Given the description of an element on the screen output the (x, y) to click on. 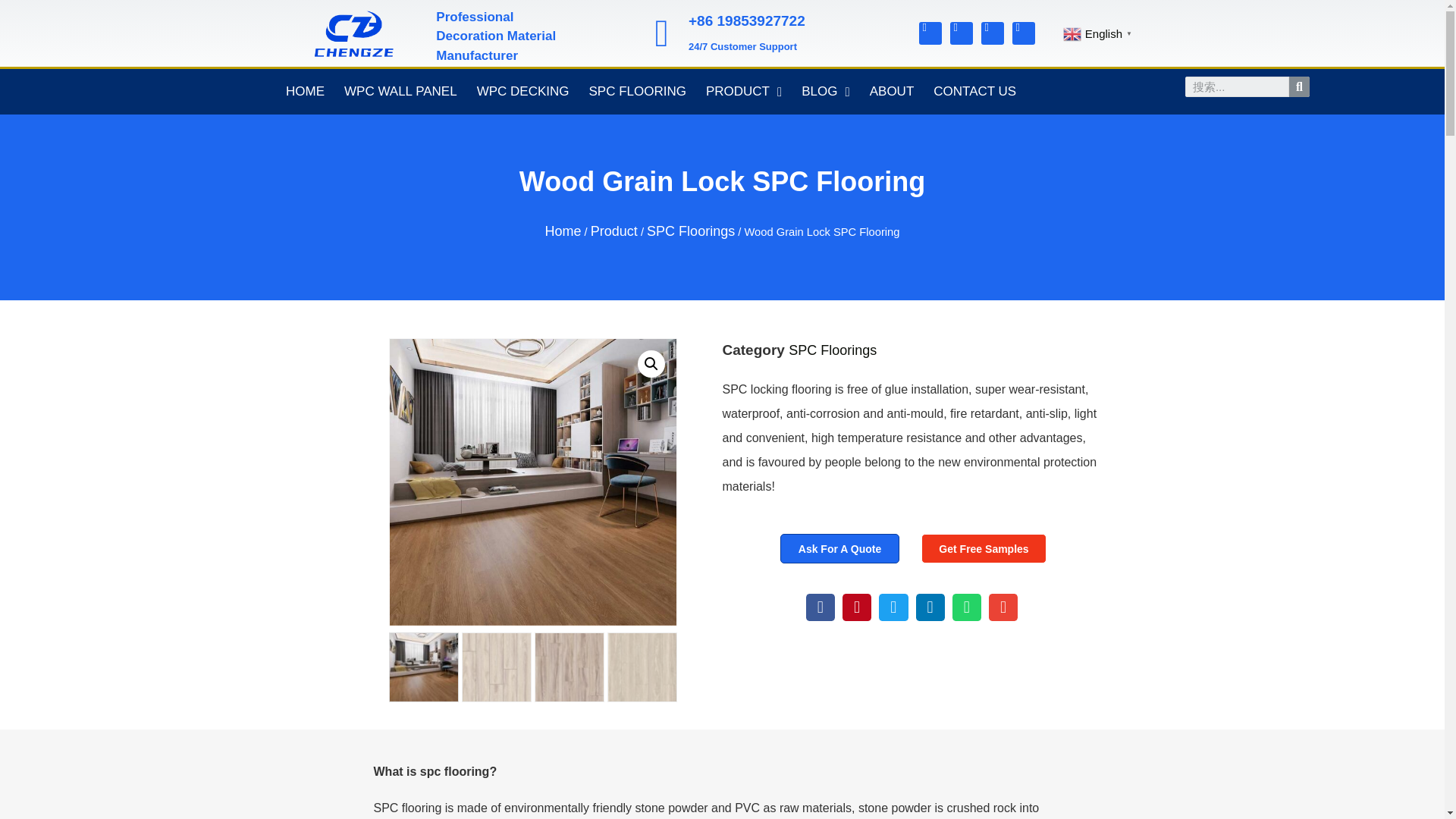
WPC DECKING (523, 91)
PRODUCT (743, 91)
CONTACT US (974, 91)
SPC FLOORING (636, 91)
BLOG (825, 91)
WPC WALL PANEL (400, 91)
ABOUT (892, 91)
HOME (305, 91)
